Given the description of an element on the screen output the (x, y) to click on. 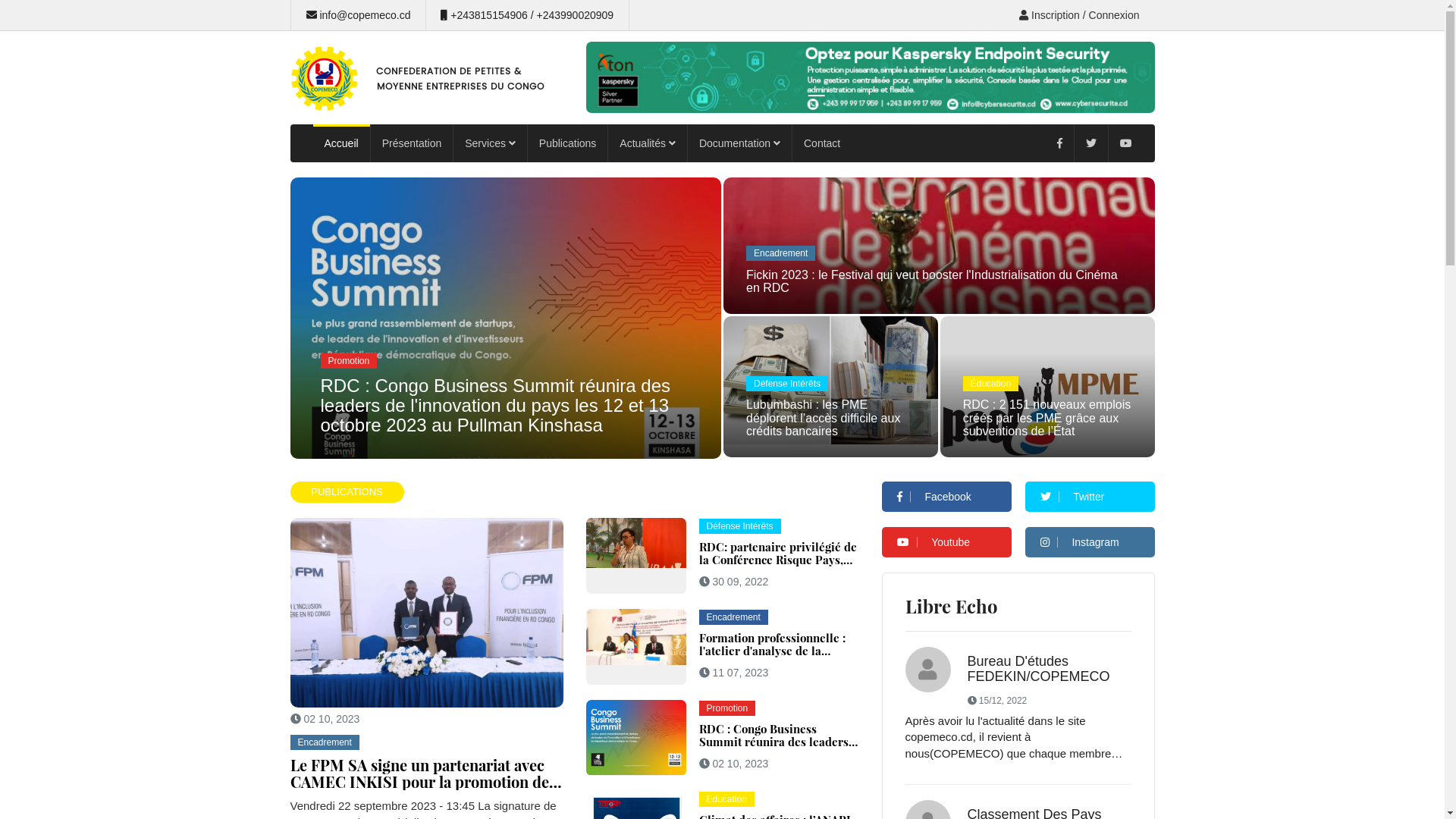
Instagram Element type: text (1089, 542)
Accueil
(Current) Element type: text (341, 143)
Youtube Element type: text (945, 542)
Twitter Element type: text (1089, 496)
Publications Element type: text (567, 143)
Services Element type: text (490, 143)
Inscription / Connexion Element type: text (1079, 14)
Documentation Element type: text (739, 143)
Facebook Element type: text (945, 496)
Contact Element type: text (821, 143)
